Given the description of an element on the screen output the (x, y) to click on. 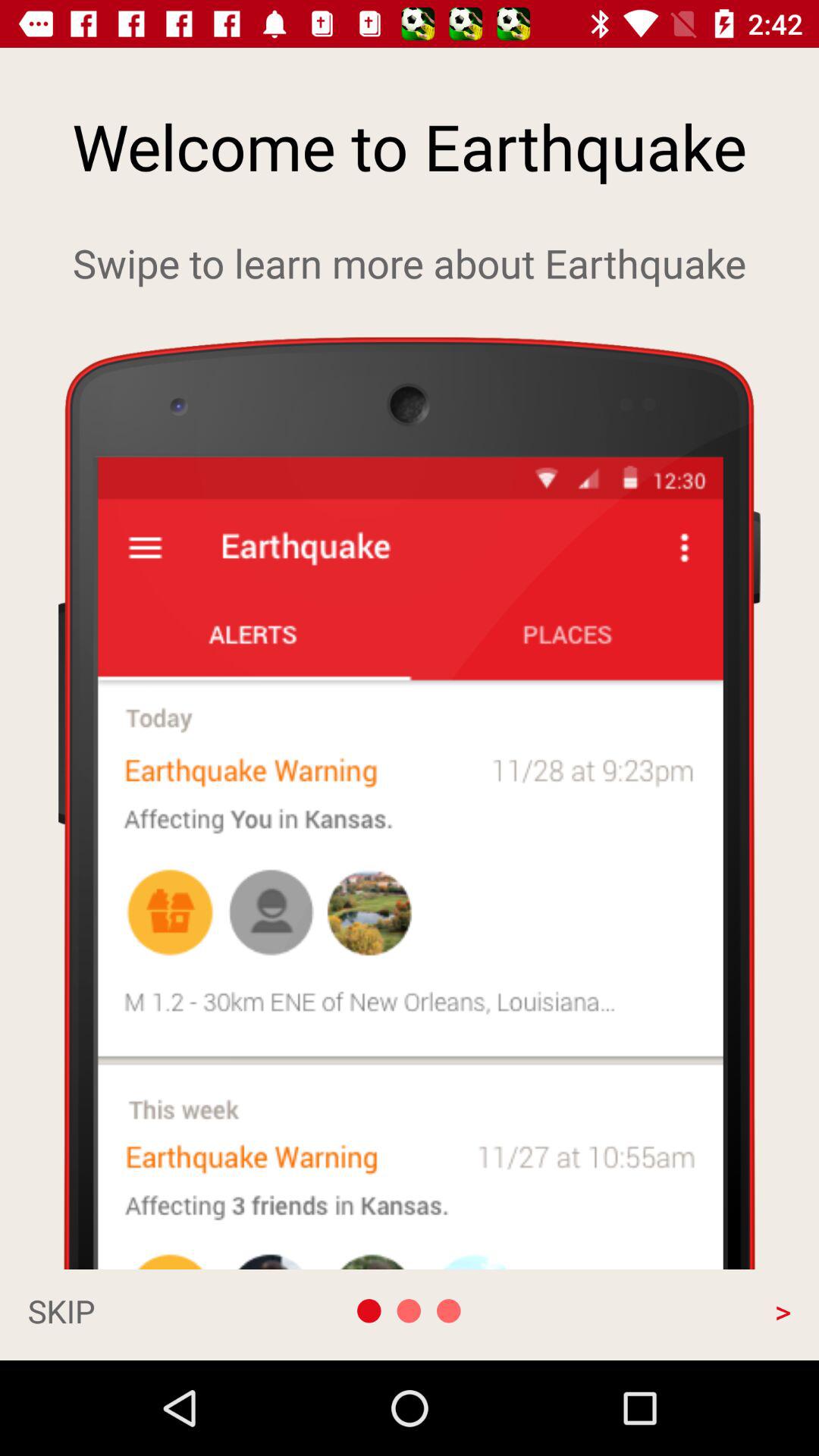
press the skip at the bottom left corner (141, 1310)
